Given the description of an element on the screen output the (x, y) to click on. 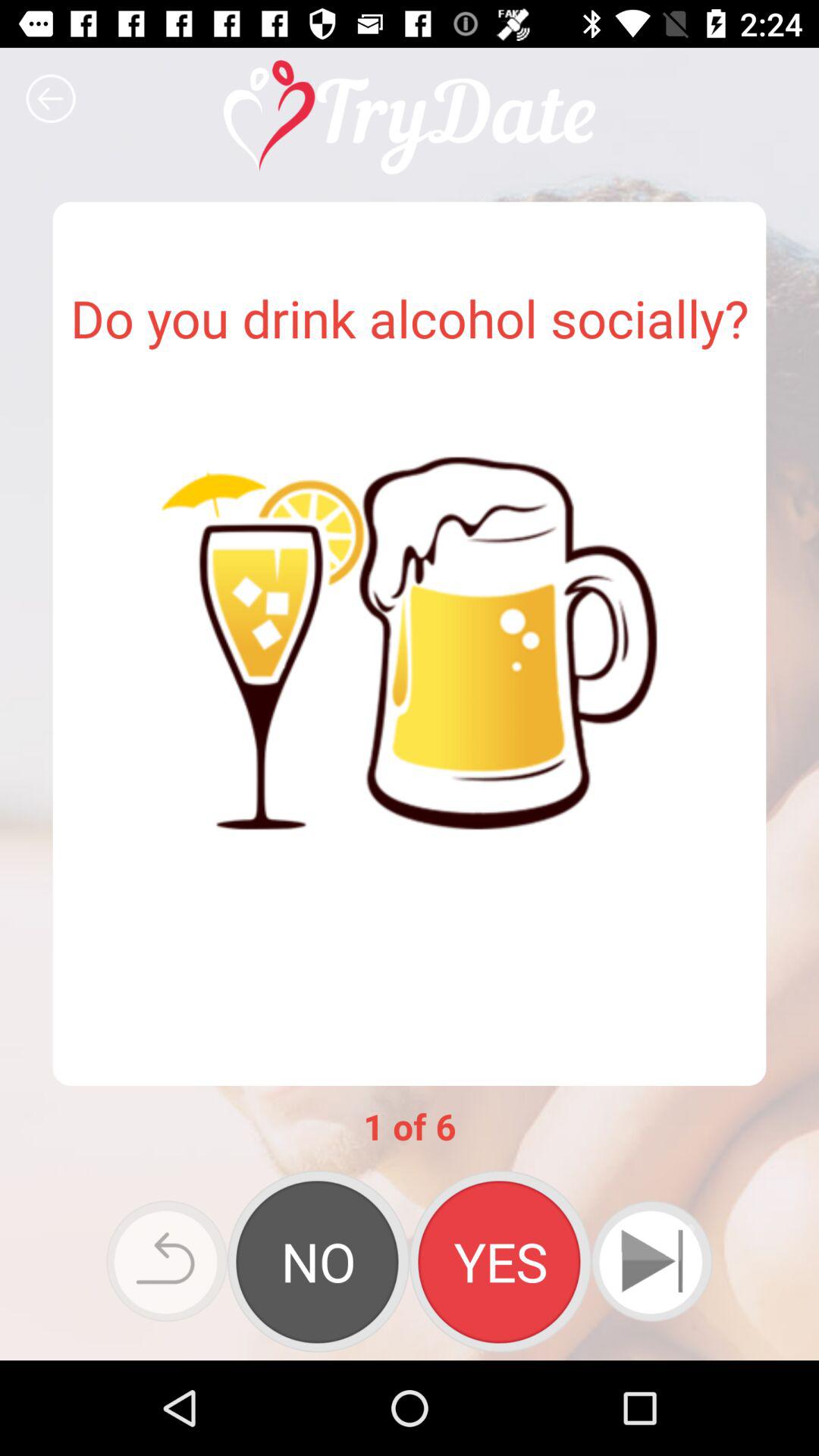
select no (318, 1261)
